Given the description of an element on the screen output the (x, y) to click on. 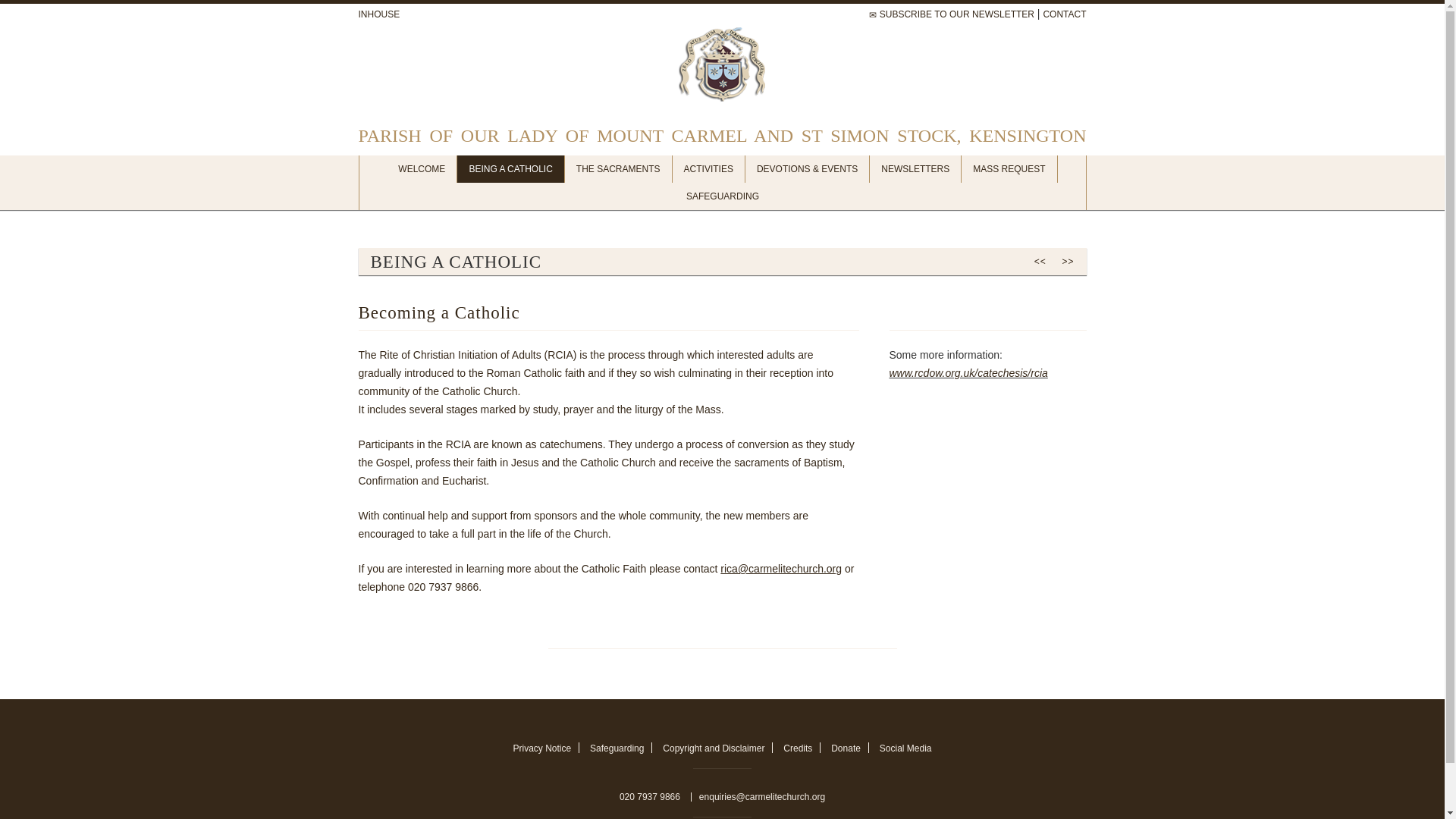
THE SACRAMENTS (618, 168)
BEING A CATHOLIC (510, 168)
INHOUSE (378, 14)
ACTIVITIES (708, 168)
SUBSCRIBE TO OUR NEWSLETTER (951, 14)
CONTACT (1064, 14)
WELCOME (422, 168)
